Given the description of an element on the screen output the (x, y) to click on. 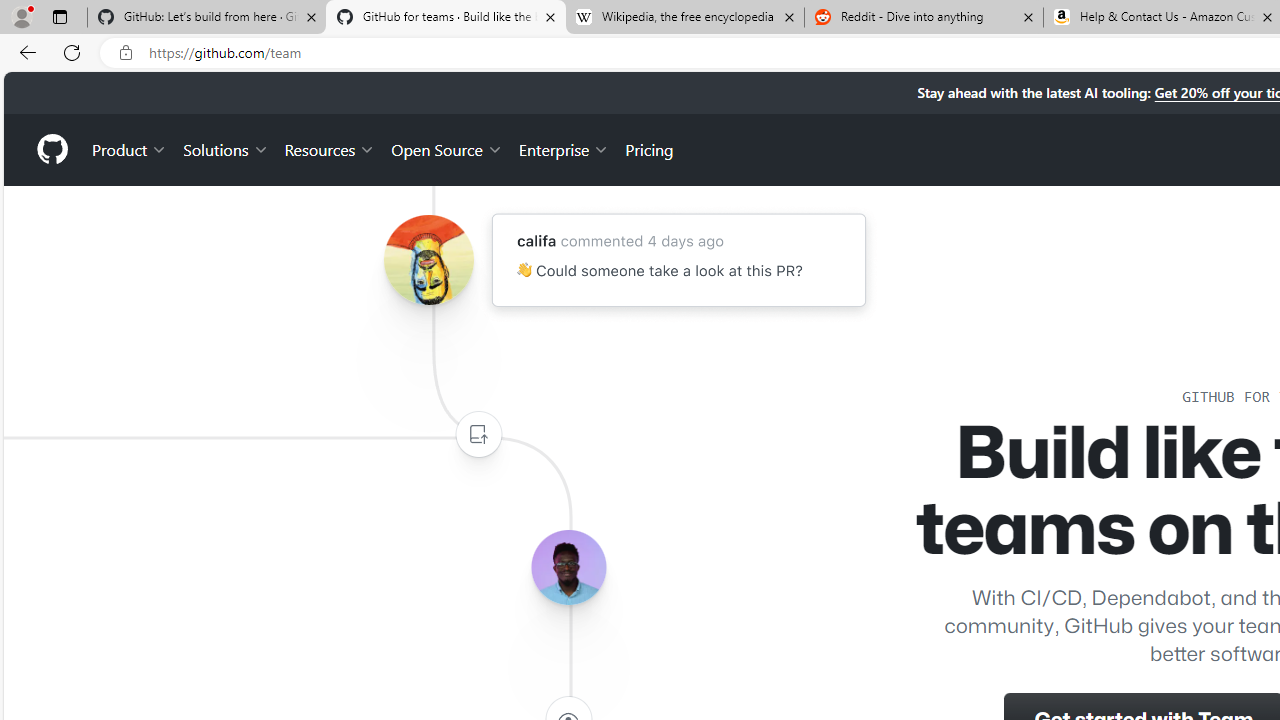
Homepage (51, 149)
Product (130, 148)
Solutions (225, 148)
Pricing (649, 148)
Resources (330, 148)
Avatar of the user califa (428, 260)
Open Source (446, 148)
Open Source (446, 148)
